Given the description of an element on the screen output the (x, y) to click on. 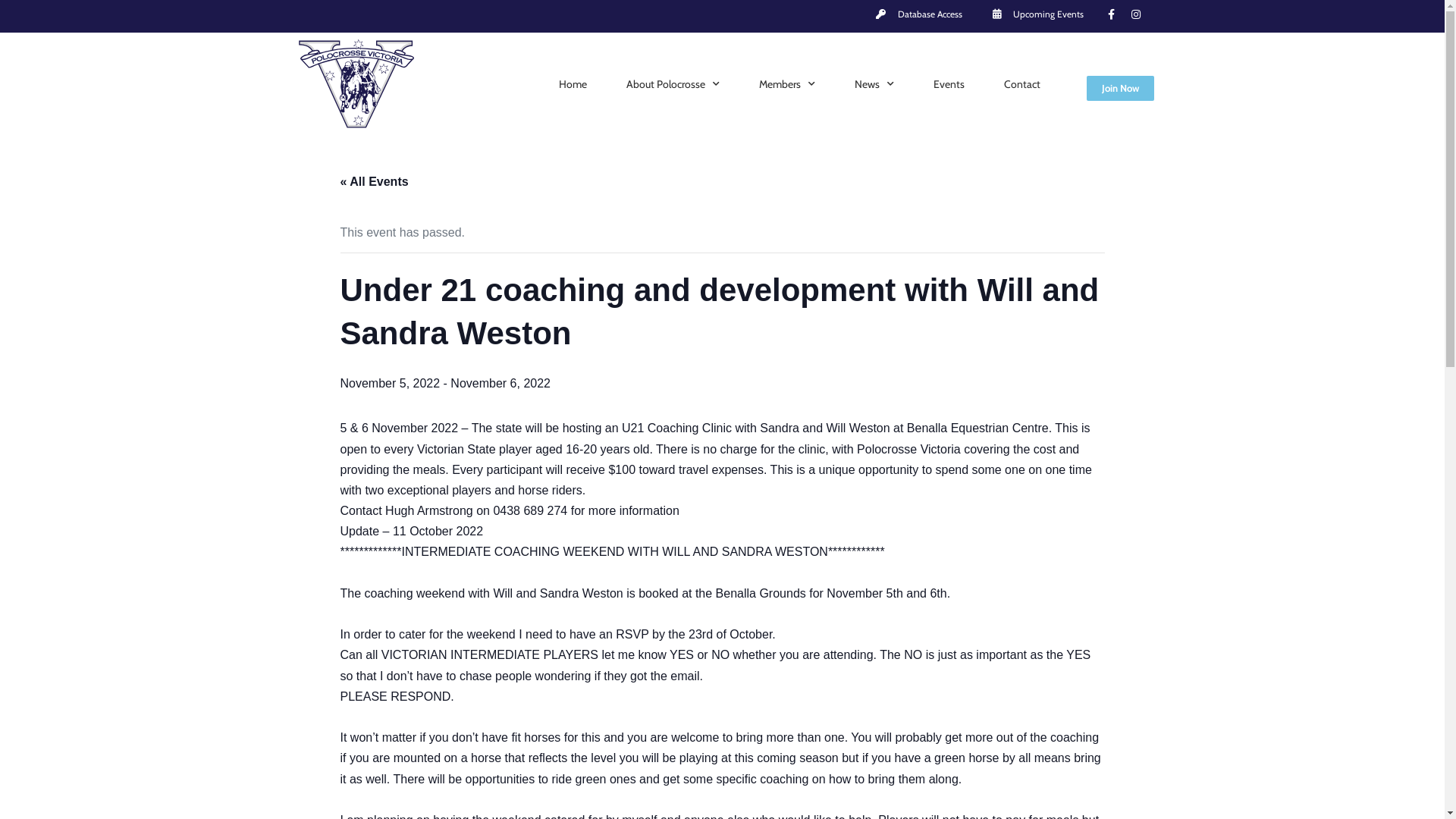
About Polocrosse Element type: text (672, 83)
Upcoming Events Element type: text (1035, 13)
Database Access Element type: text (917, 13)
Home Element type: text (572, 83)
News Element type: text (873, 83)
Contact Element type: text (1022, 83)
Join Now Element type: text (1120, 87)
Members Element type: text (786, 83)
Events Element type: text (948, 83)
